Given the description of an element on the screen output the (x, y) to click on. 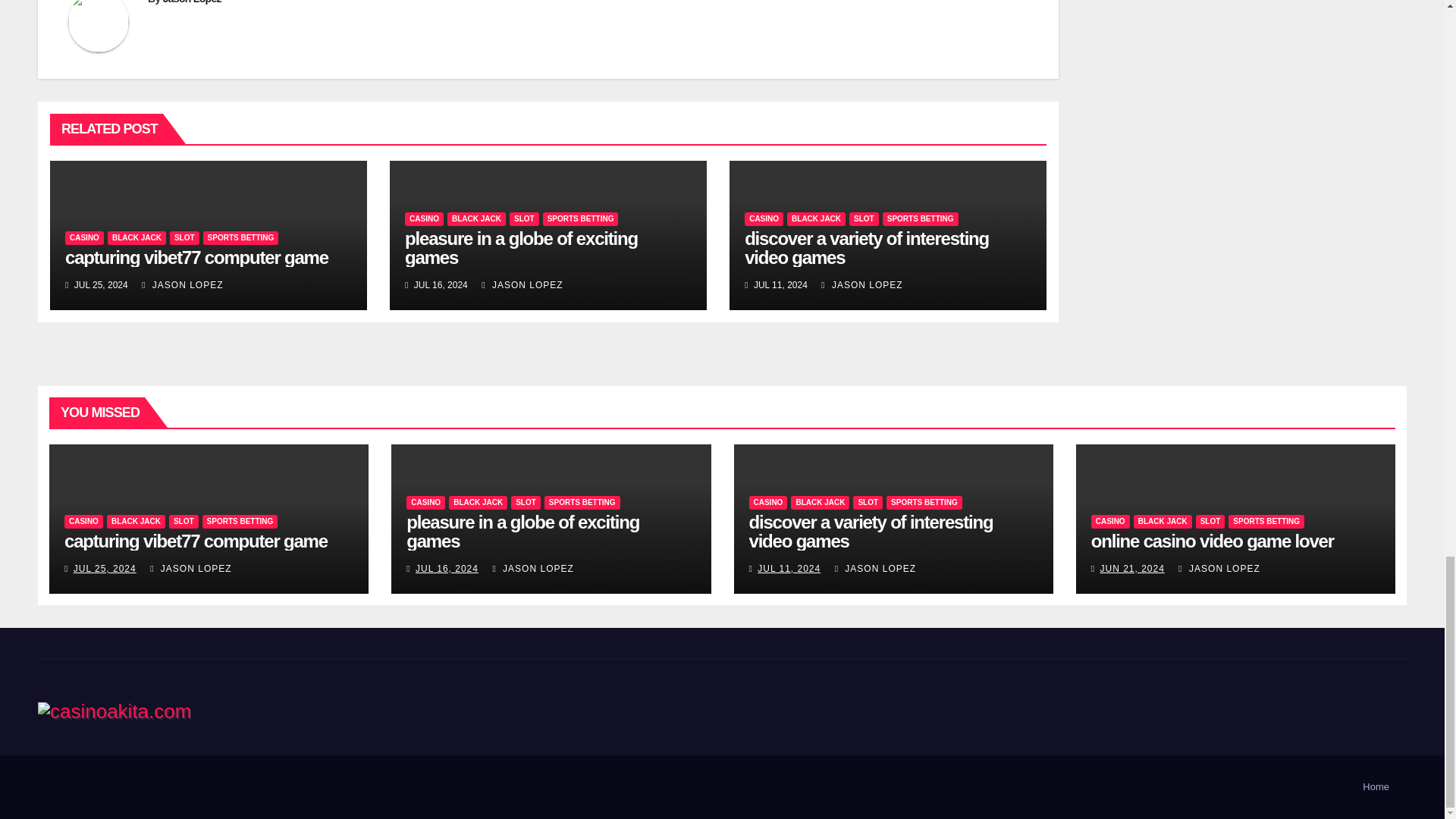
Permalink to: pleasure in a globe of exciting games (522, 531)
Permalink to: capturing vibet77 computer game (197, 257)
BLACK JACK (136, 237)
Permalink to: discover a variety of interesting video games (870, 531)
Jason Lopez (192, 2)
Permalink to: capturing vibet77 computer game (195, 540)
Permalink to: pleasure in a globe of exciting games (520, 247)
CASINO (84, 237)
Permalink to: online casino video game lover (1211, 540)
Home (1375, 786)
SPORTS BETTING (241, 237)
Permalink to: discover a variety of interesting video games (866, 247)
SLOT (184, 237)
